Given the description of an element on the screen output the (x, y) to click on. 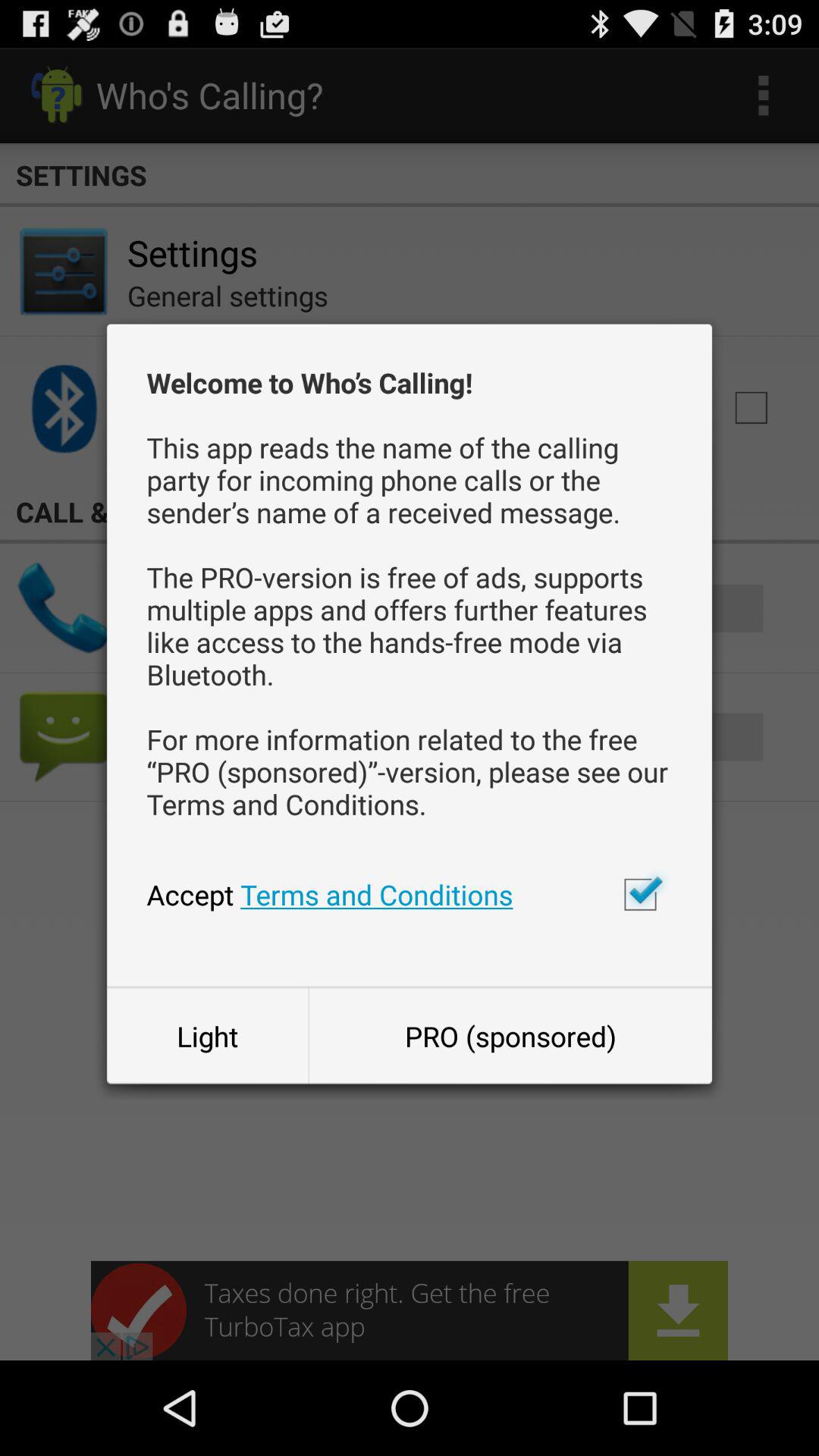
accept (640, 894)
